Given the description of an element on the screen output the (x, y) to click on. 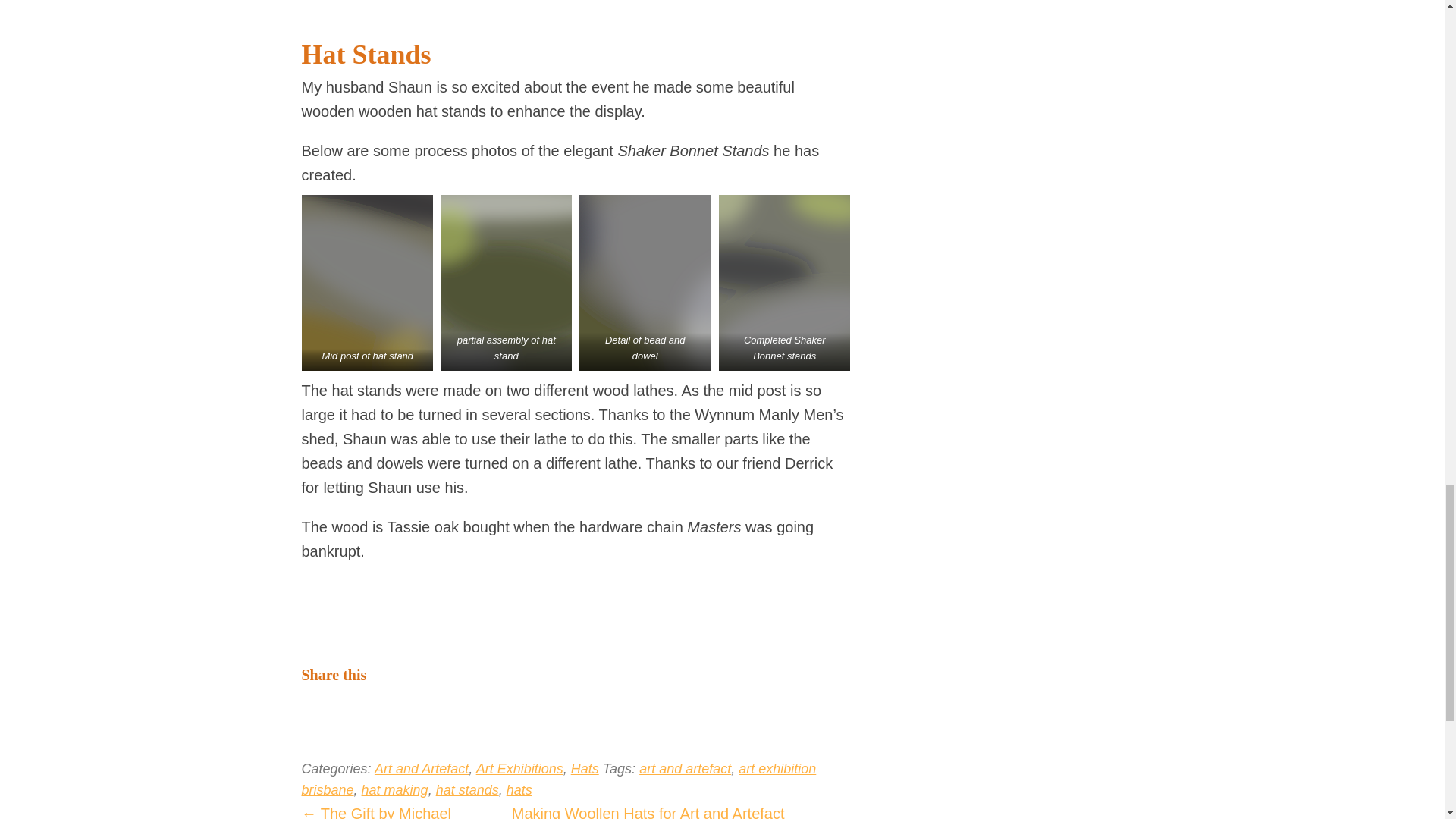
Hats (584, 768)
hat making (394, 789)
art exhibition brisbane (558, 779)
hats (519, 789)
art and artefact (684, 768)
Art and Artefact (421, 768)
hat stands (467, 789)
Art Exhibitions (519, 768)
